Given the description of an element on the screen output the (x, y) to click on. 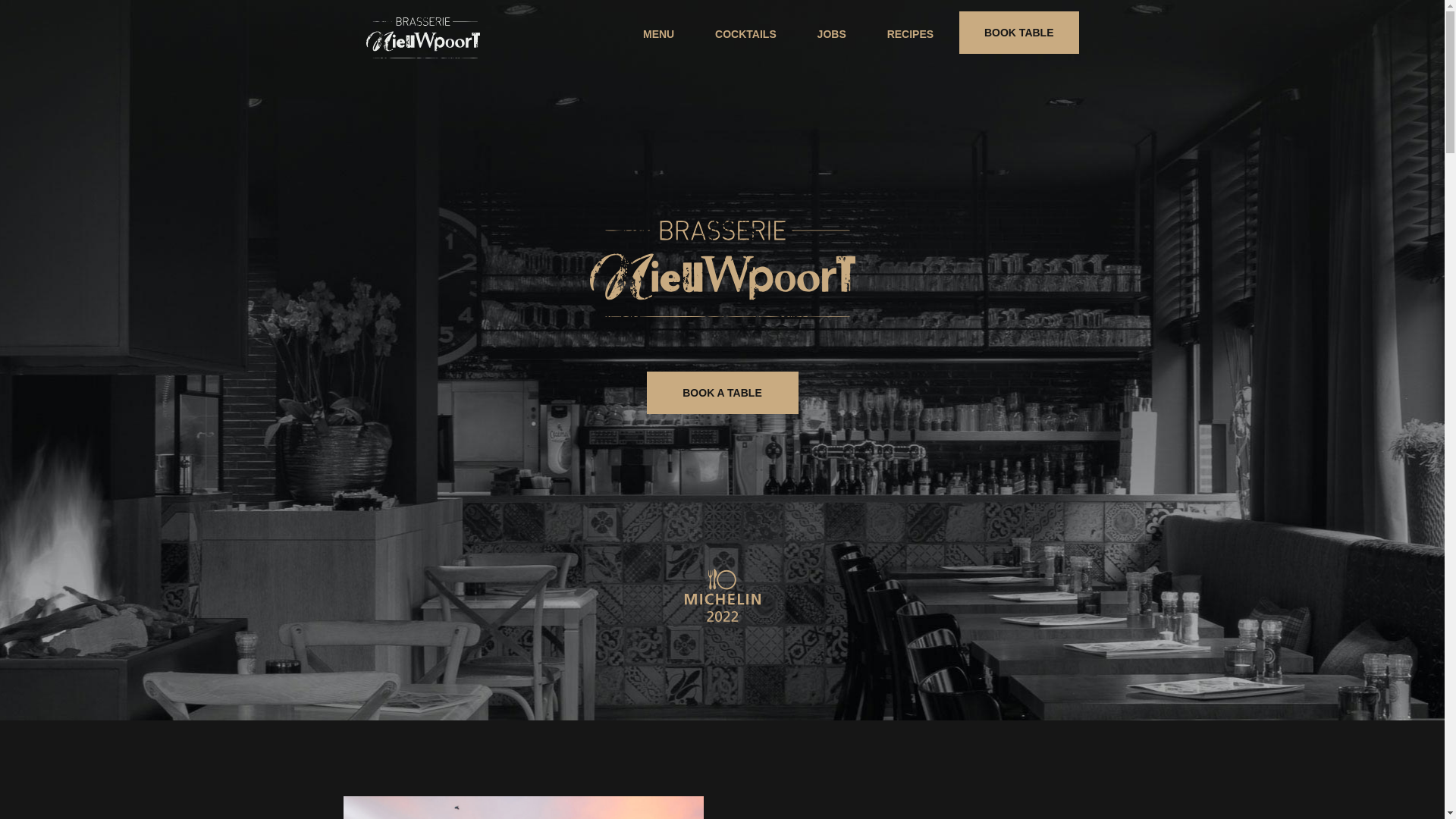
JOBS Element type: text (831, 33)
RECIPES Element type: text (910, 33)
COCKTAILS Element type: text (745, 33)
BOOK TABLE Element type: text (1019, 32)
MENU Element type: text (658, 33)
BOOK A TABLE Element type: text (721, 392)
